Given the description of an element on the screen output the (x, y) to click on. 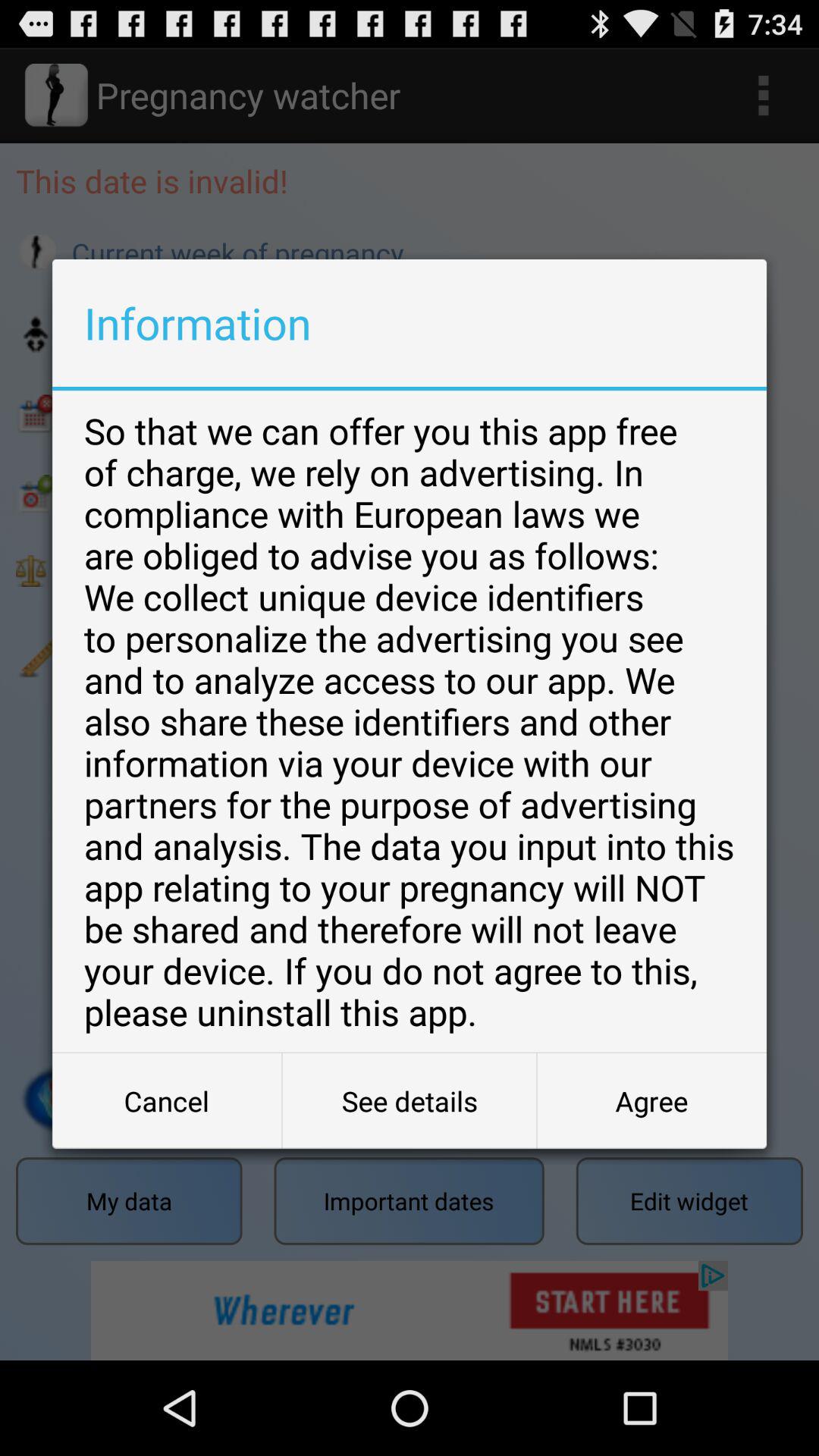
scroll to see details button (409, 1100)
